Given the description of an element on the screen output the (x, y) to click on. 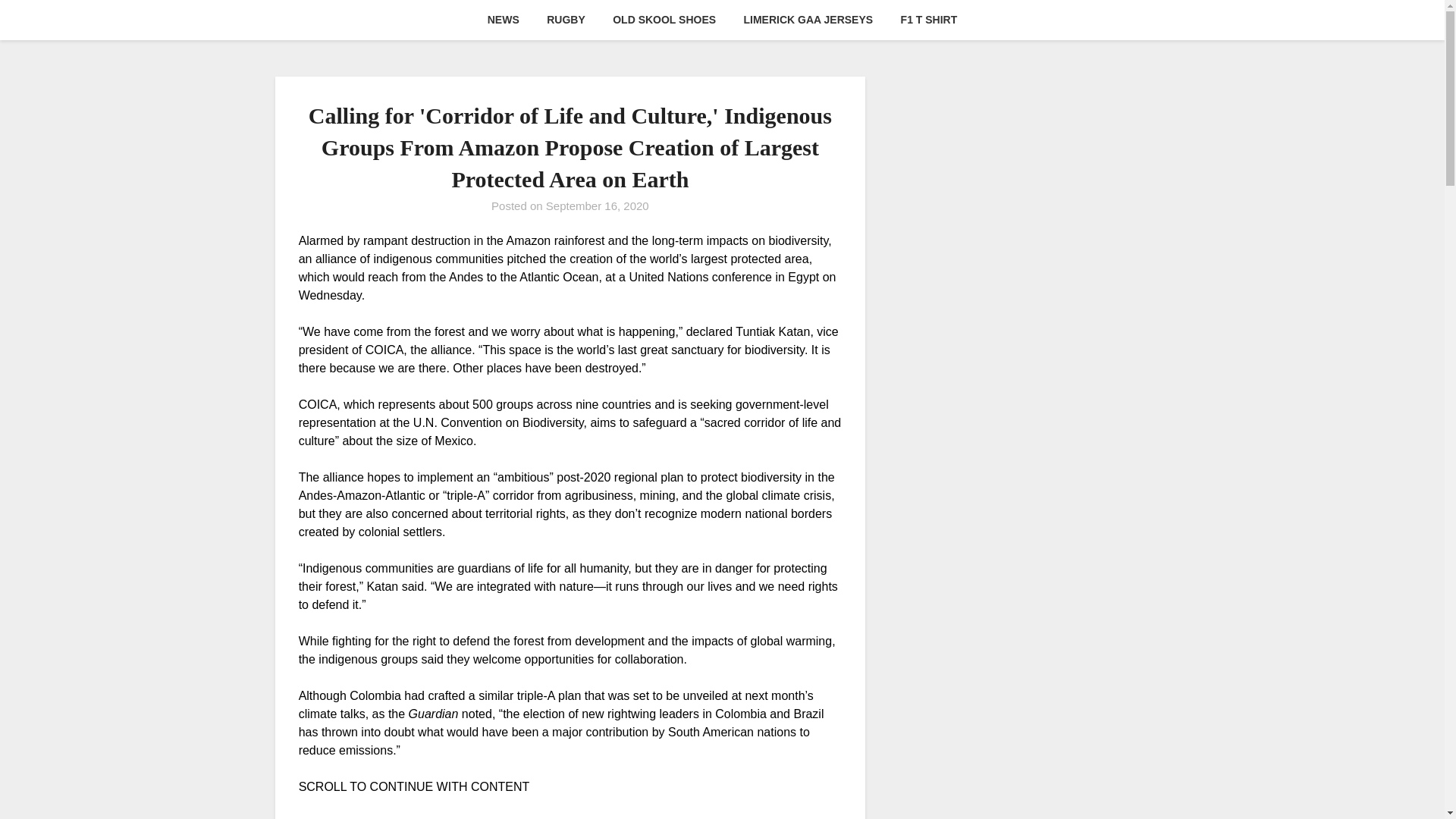
September 16, 2020 (597, 205)
LIMERICK GAA JERSEYS (808, 20)
OLD SKOOL SHOES (663, 20)
F1 T SHIRT (928, 20)
RUGBY (565, 20)
Search (37, 22)
NEWS (503, 20)
